Given the description of an element on the screen output the (x, y) to click on. 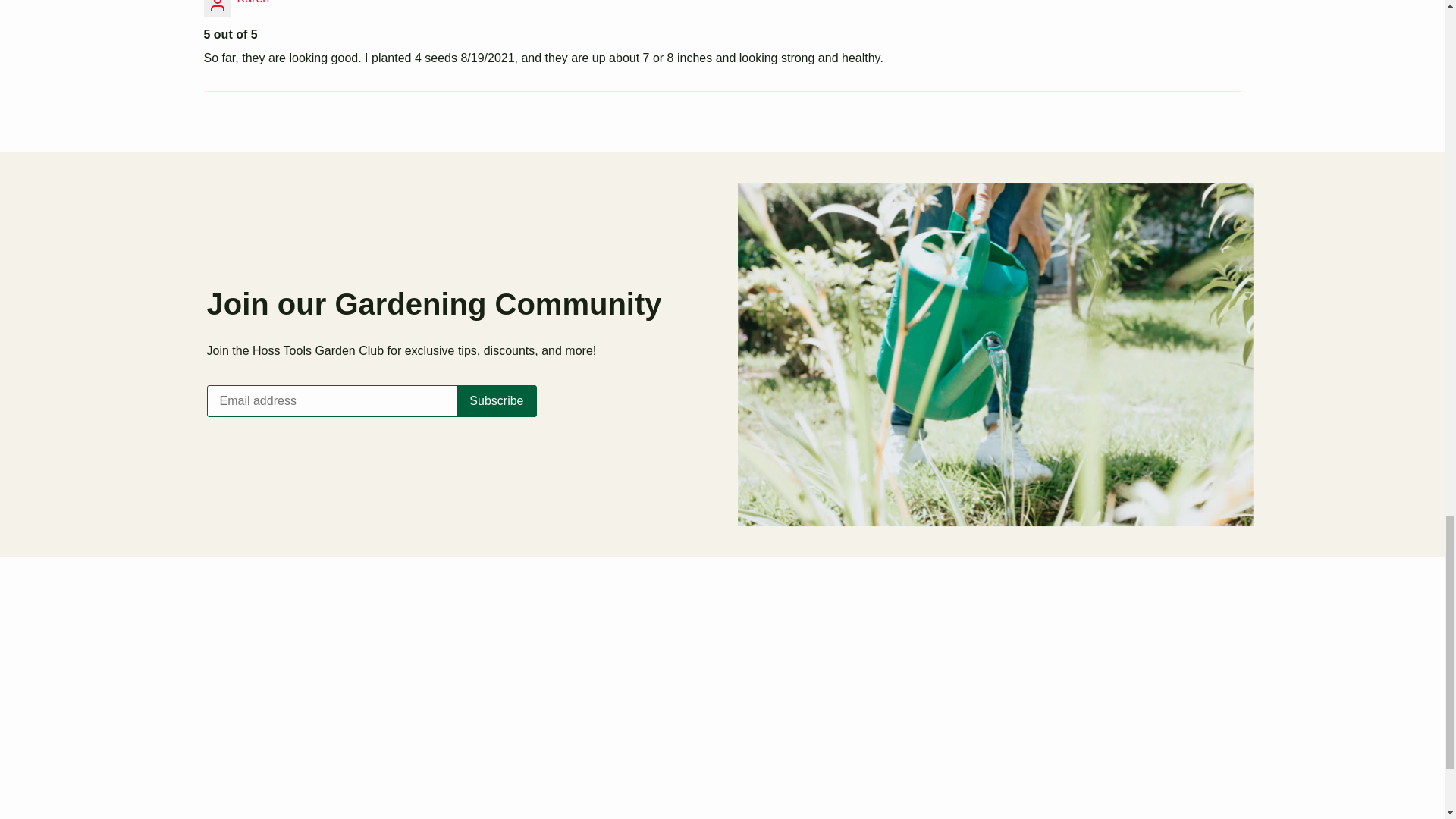
Subscribe (496, 400)
